Given the description of an element on the screen output the (x, y) to click on. 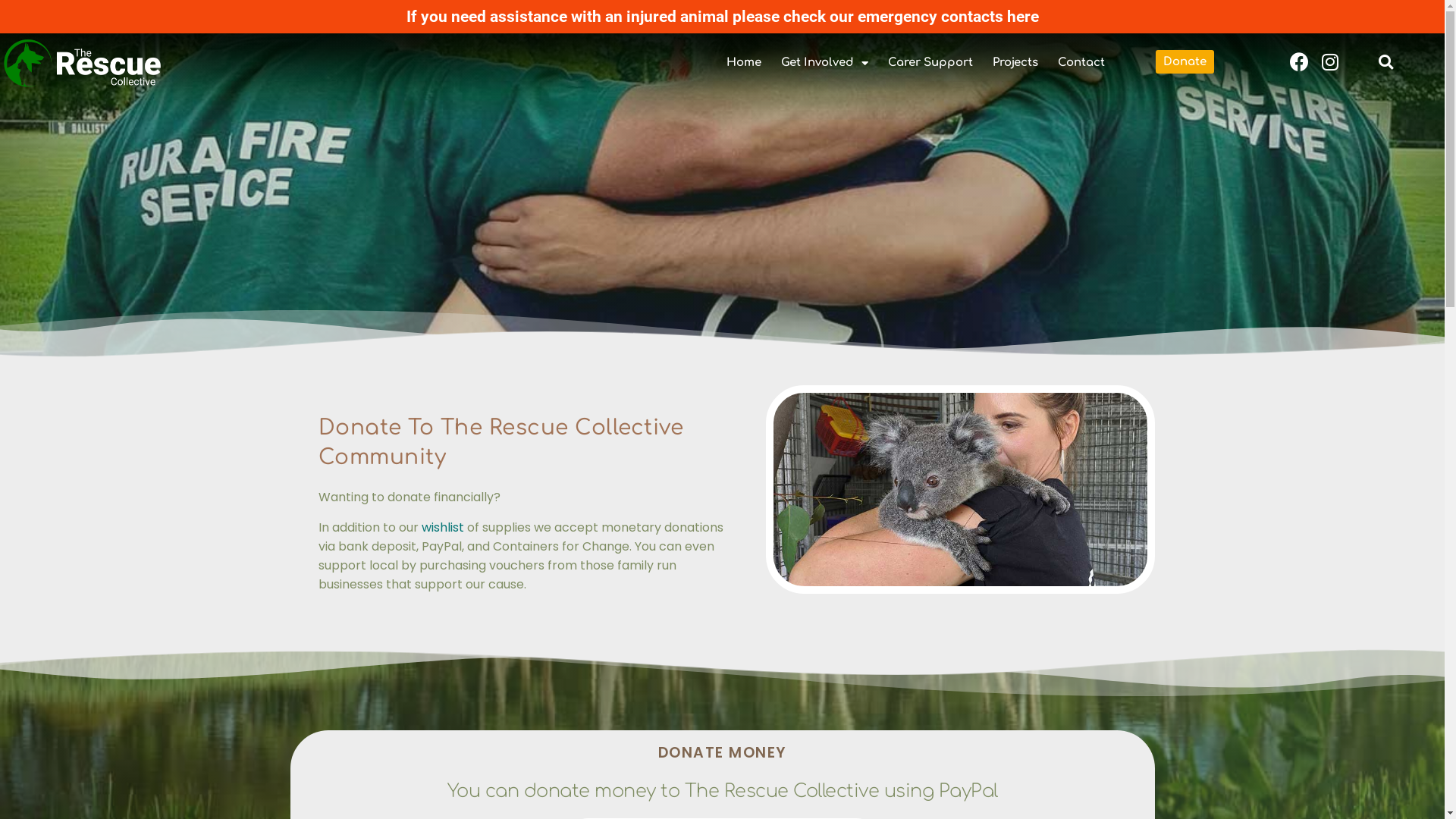
Contact Element type: text (1081, 62)
Carer Support Element type: text (930, 62)
wishlist Element type: text (442, 527)
Donate Element type: text (1184, 61)
Home Element type: text (743, 62)
Projects Element type: text (1015, 62)
Get Involved Element type: text (824, 62)
